Given the description of an element on the screen output the (x, y) to click on. 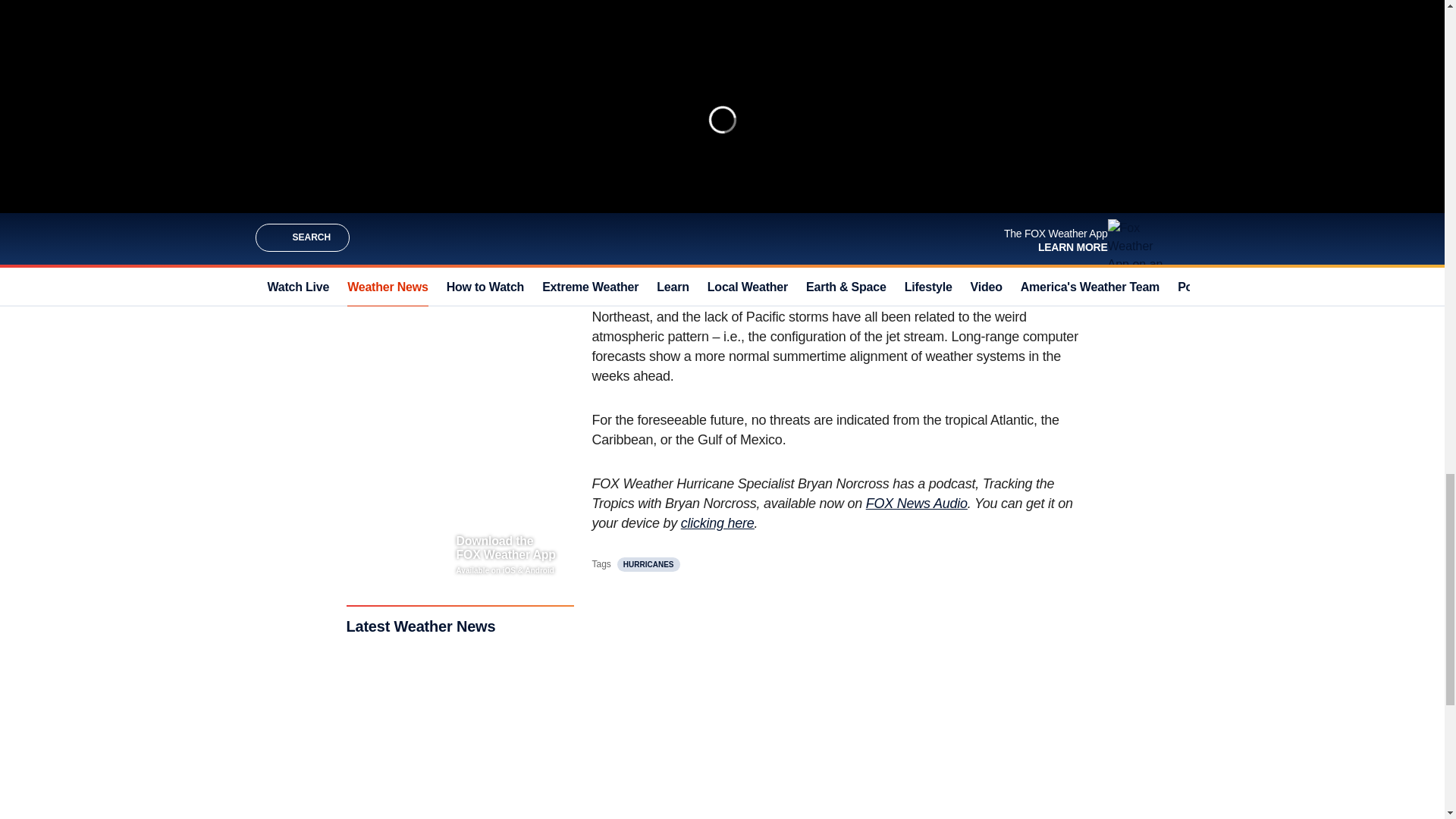
clicking here (717, 522)
HURRICANES (648, 564)
FOX News Audio (917, 503)
